Given the description of an element on the screen output the (x, y) to click on. 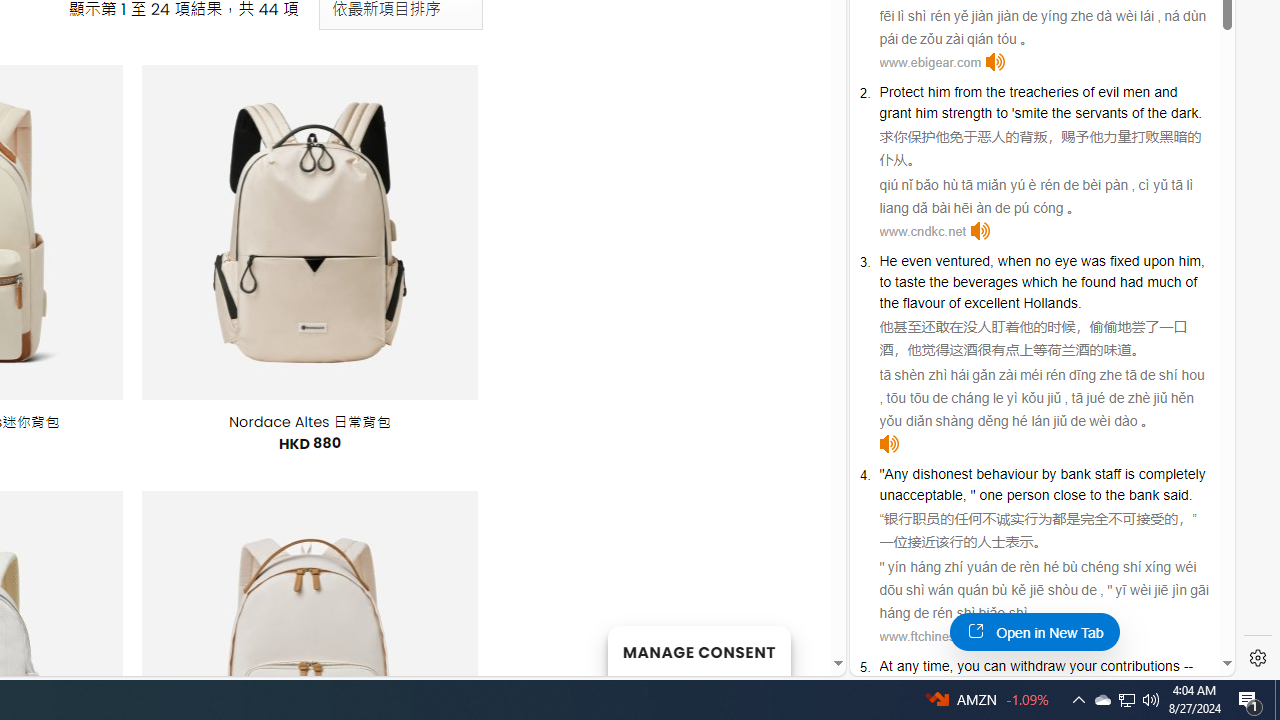
Protect (901, 92)
grant (895, 112)
, (950, 665)
the (1115, 494)
ventured (962, 260)
MANAGE CONSENT (698, 650)
dishonest (941, 473)
